Given the description of an element on the screen output the (x, y) to click on. 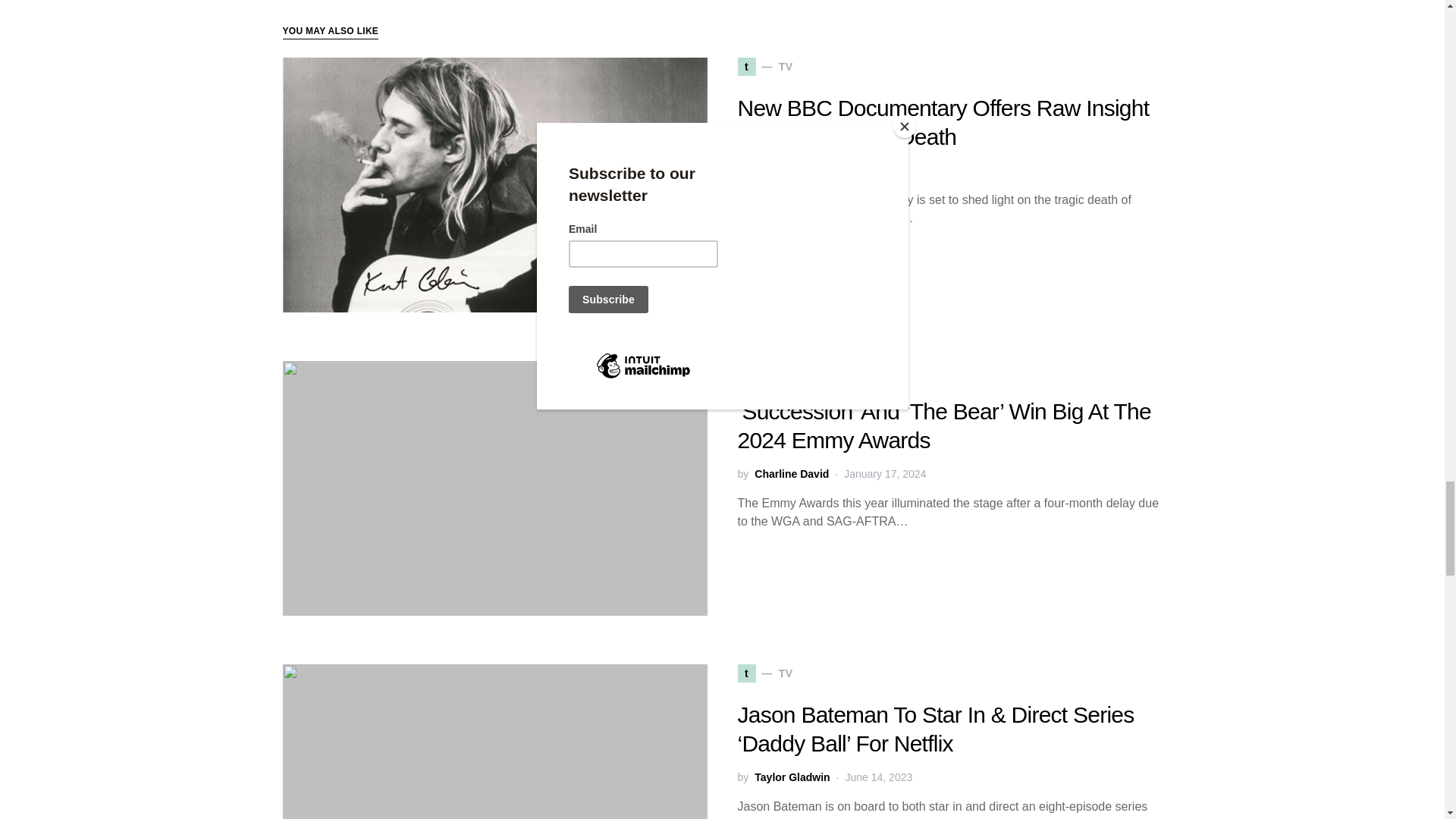
View all posts by Charline David (791, 474)
View all posts by Marie Pilon (782, 170)
View all posts by Taylor Gladwin (791, 777)
